Given the description of an element on the screen output the (x, y) to click on. 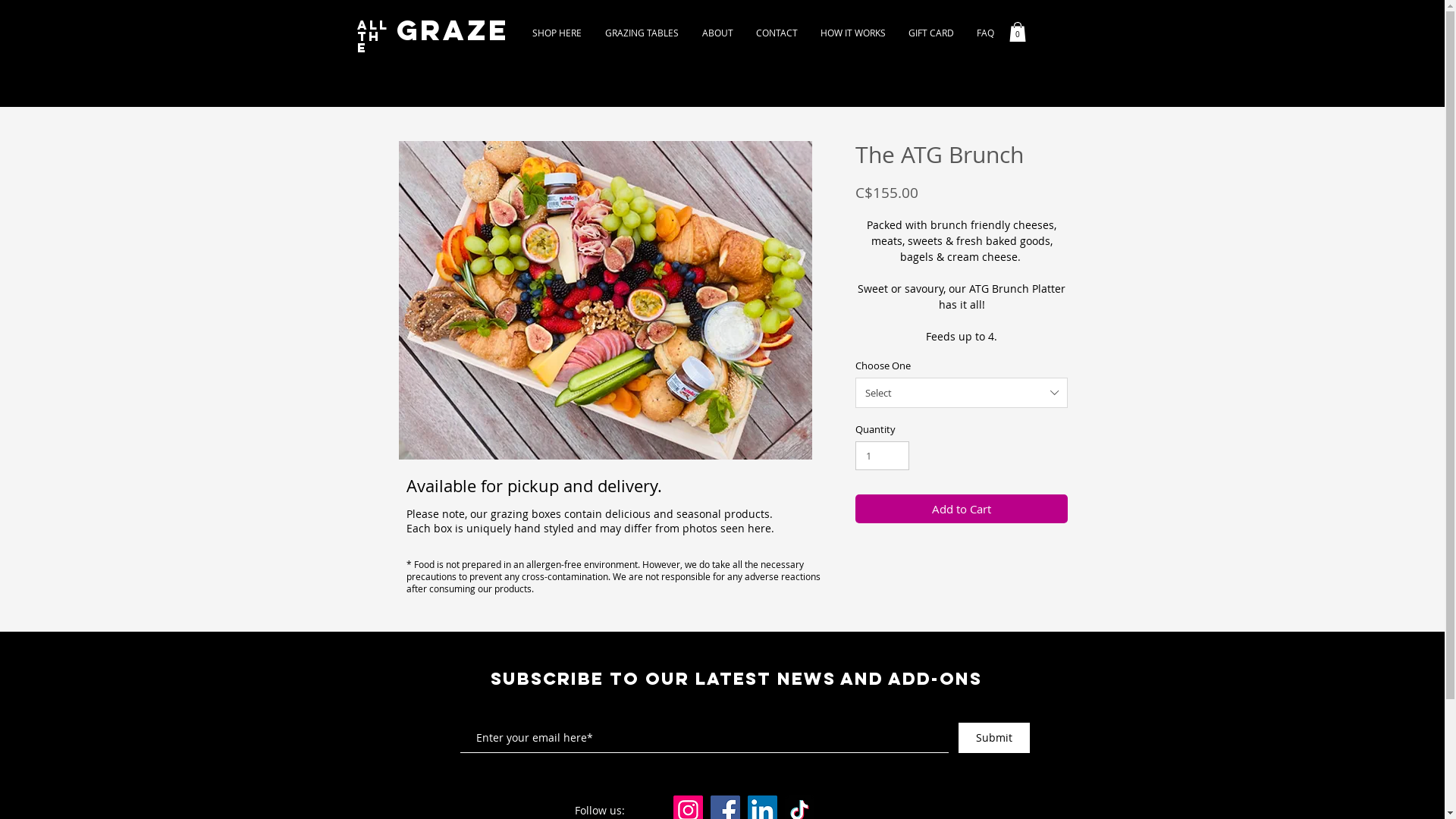
GIFT CARD Element type: text (930, 32)
GRAZING TABLES Element type: text (641, 32)
HOW IT WORKS Element type: text (852, 32)
CONTACT Element type: text (776, 32)
GRAZE Element type: text (452, 30)
SHOP HERE Element type: text (556, 32)
FAQ Element type: text (984, 32)
0 Element type: text (1016, 31)
ABOUT Element type: text (716, 32)
Submit Element type: text (993, 737)
Select Element type: text (961, 392)
Add to Cart Element type: text (961, 509)
